Given the description of an element on the screen output the (x, y) to click on. 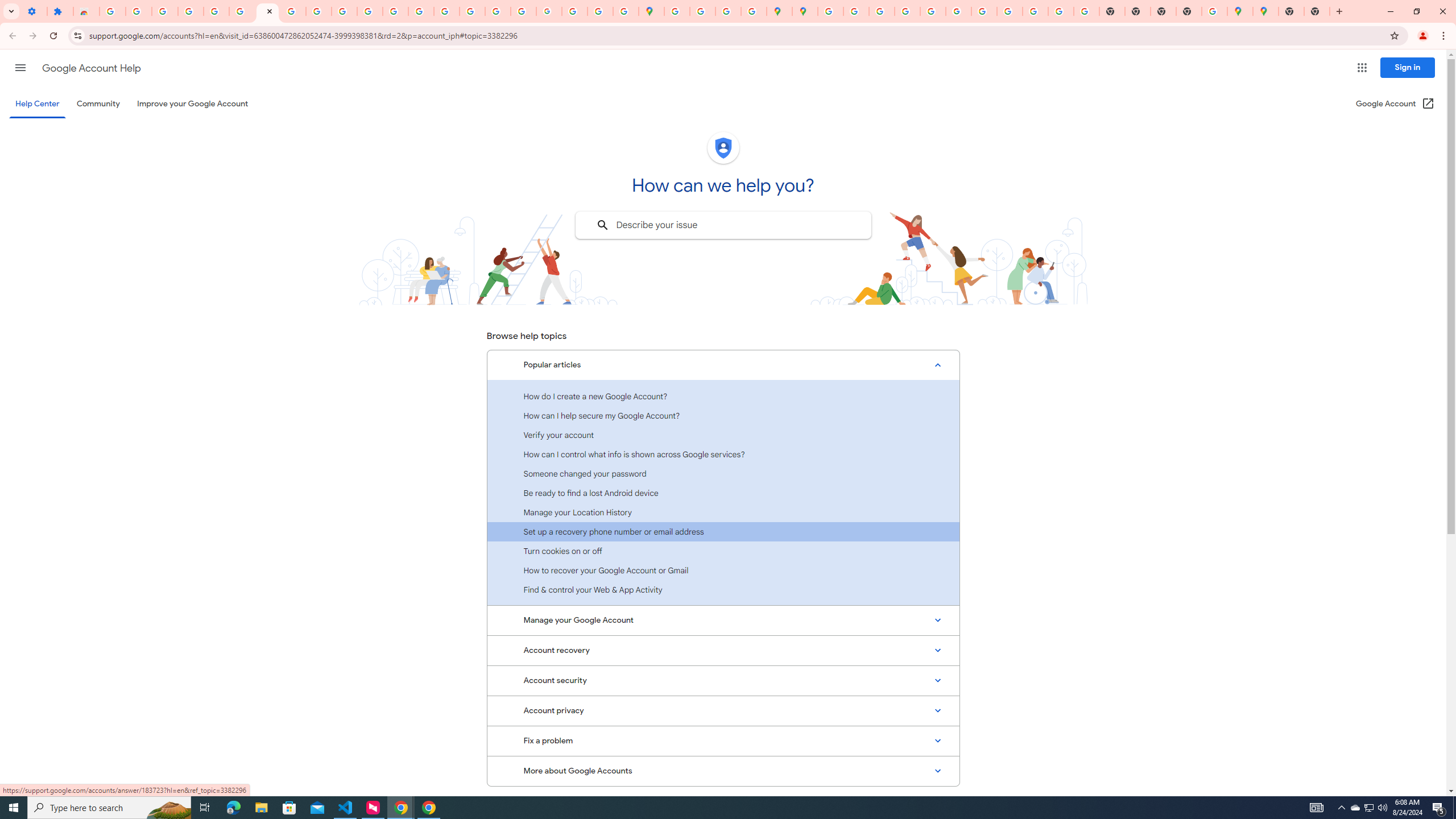
Account security (722, 680)
Find & control your Web & App Activity (722, 589)
How can I control what info is shown across Google services? (722, 454)
